Given the description of an element on the screen output the (x, y) to click on. 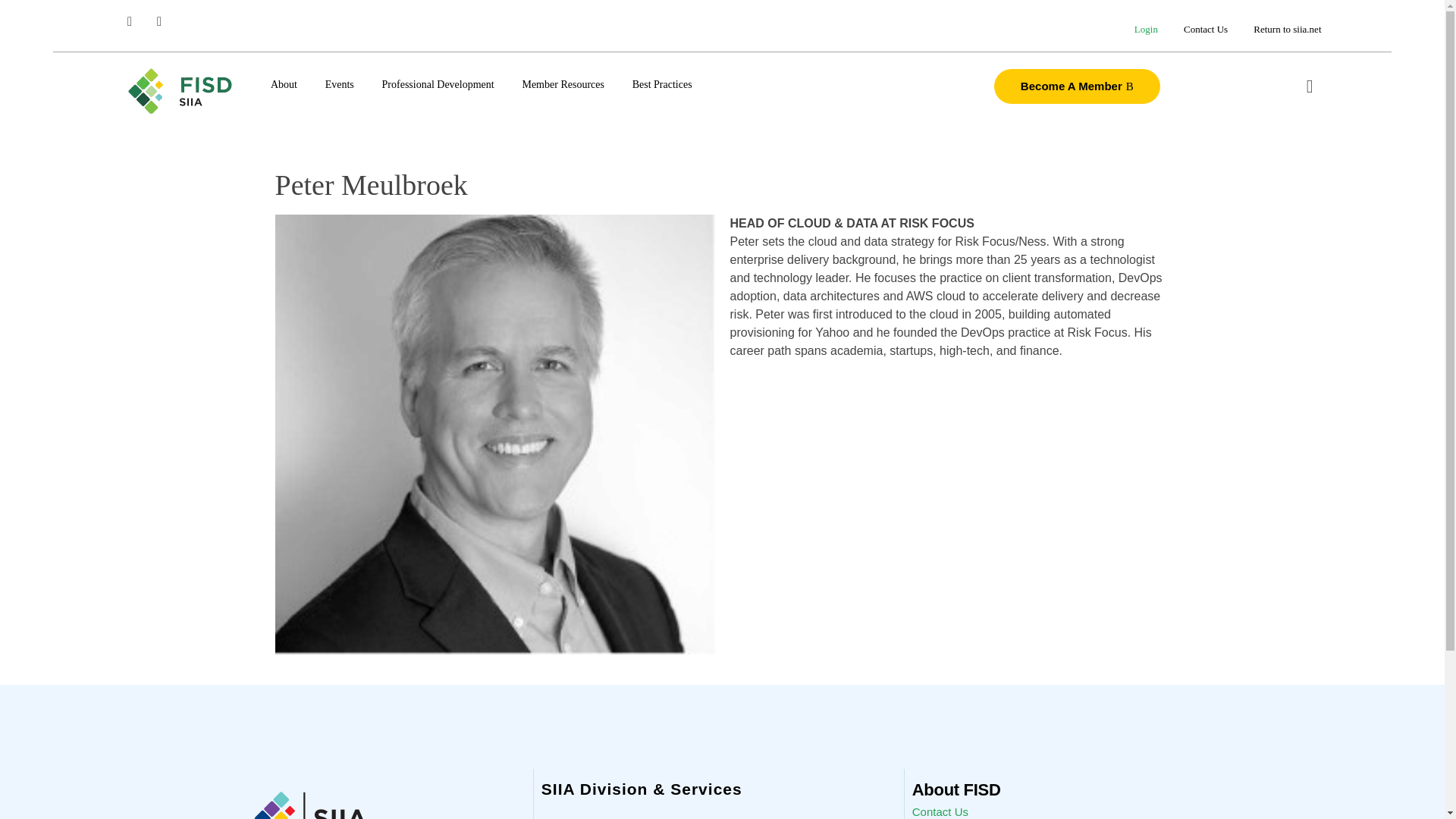
Login (1145, 29)
Best Practices (654, 84)
SIIA (139, 127)
Member Resources (562, 84)
Return to siia.net (1280, 29)
Become A Member (1077, 86)
About (290, 84)
Contact Us (1205, 29)
SIIA (181, 91)
SIIA (139, 127)
Events (339, 84)
